Given the description of an element on the screen output the (x, y) to click on. 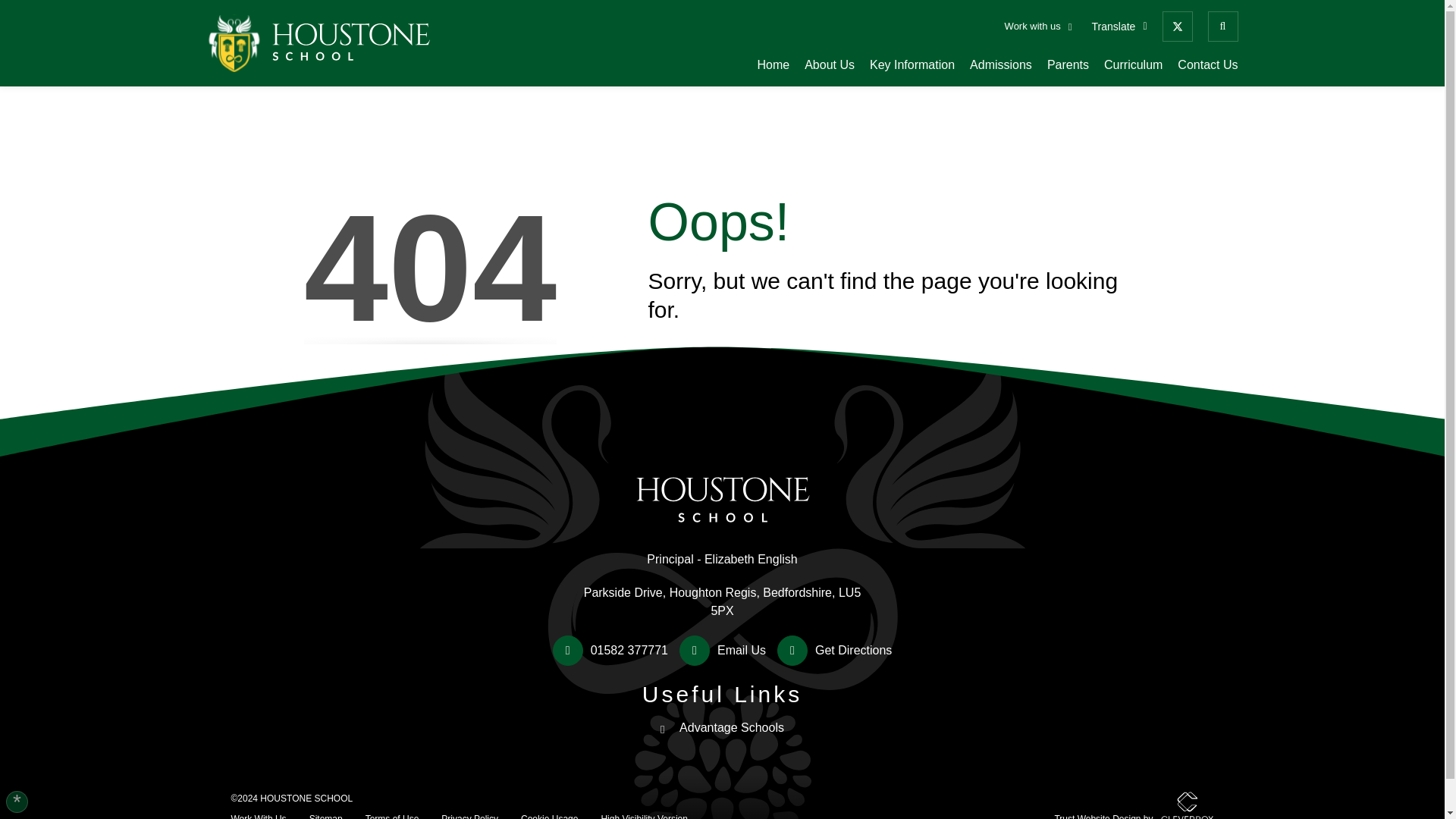
Get Directions (834, 650)
Admissions (1000, 65)
Search site (1222, 26)
 Houstone School (721, 465)
Work with us (1038, 26)
 Houstone School (319, 43)
Cookie Settings (16, 802)
Trust Website Design by Cleverbox (1132, 805)
X (1176, 26)
About Us (829, 65)
